Given the description of an element on the screen output the (x, y) to click on. 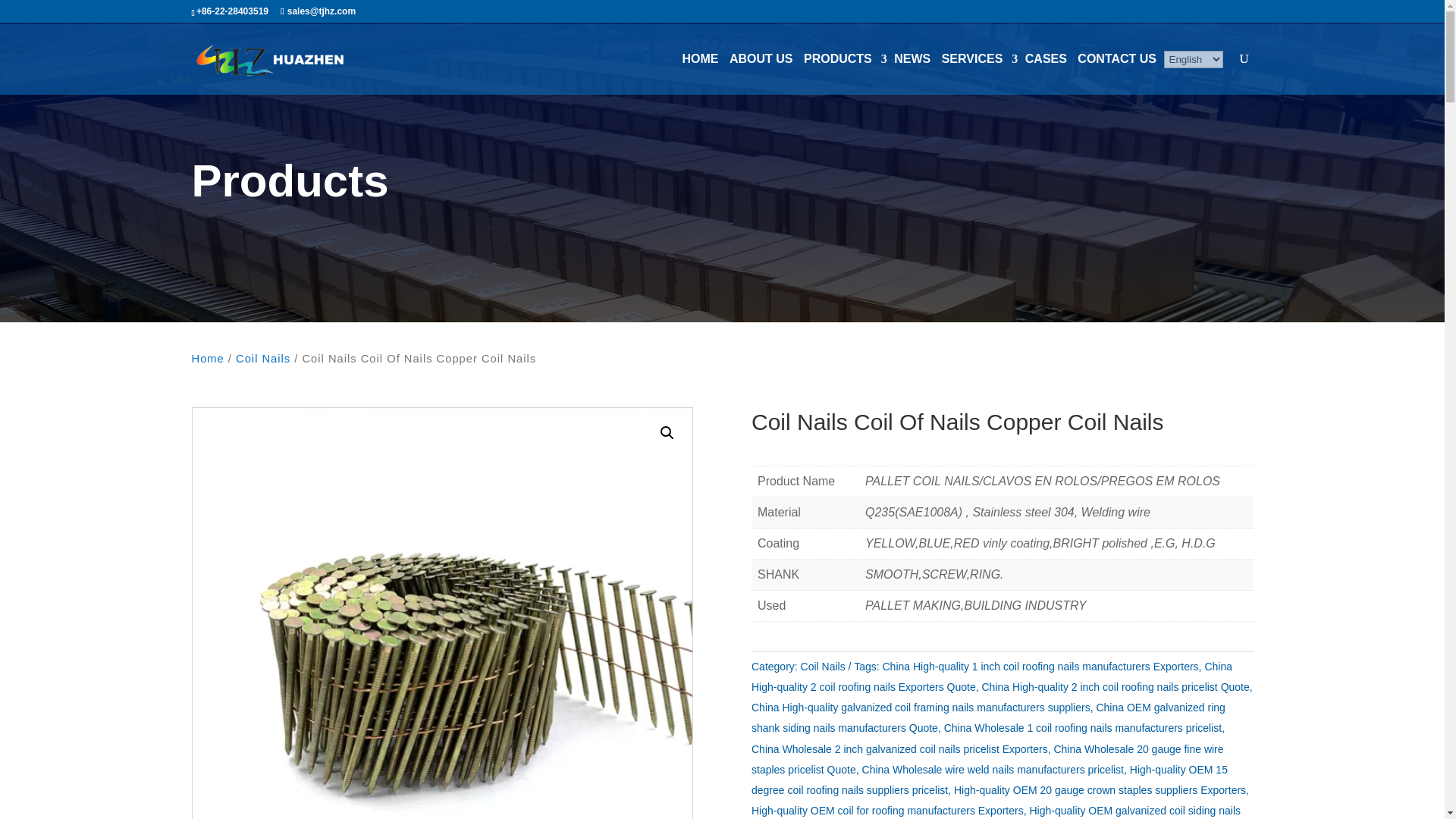
Home (207, 358)
CONTACT US (1117, 59)
Coil Nails (262, 358)
SERVICES (977, 59)
ABOUT US (760, 59)
PRODUCTS (842, 59)
